Given the description of an element on the screen output the (x, y) to click on. 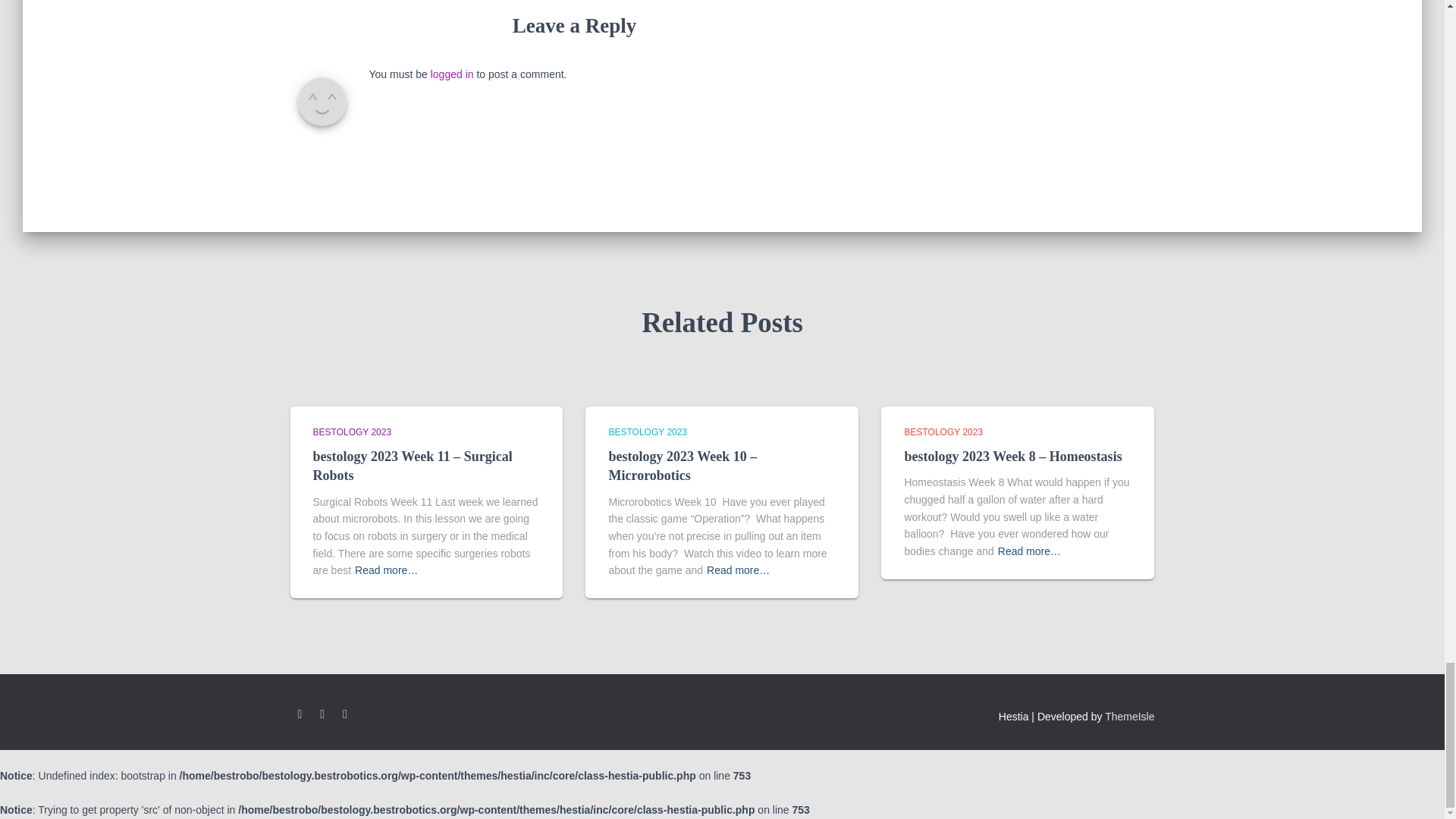
View all posts in bESTology 2023 (352, 431)
